Given the description of an element on the screen output the (x, y) to click on. 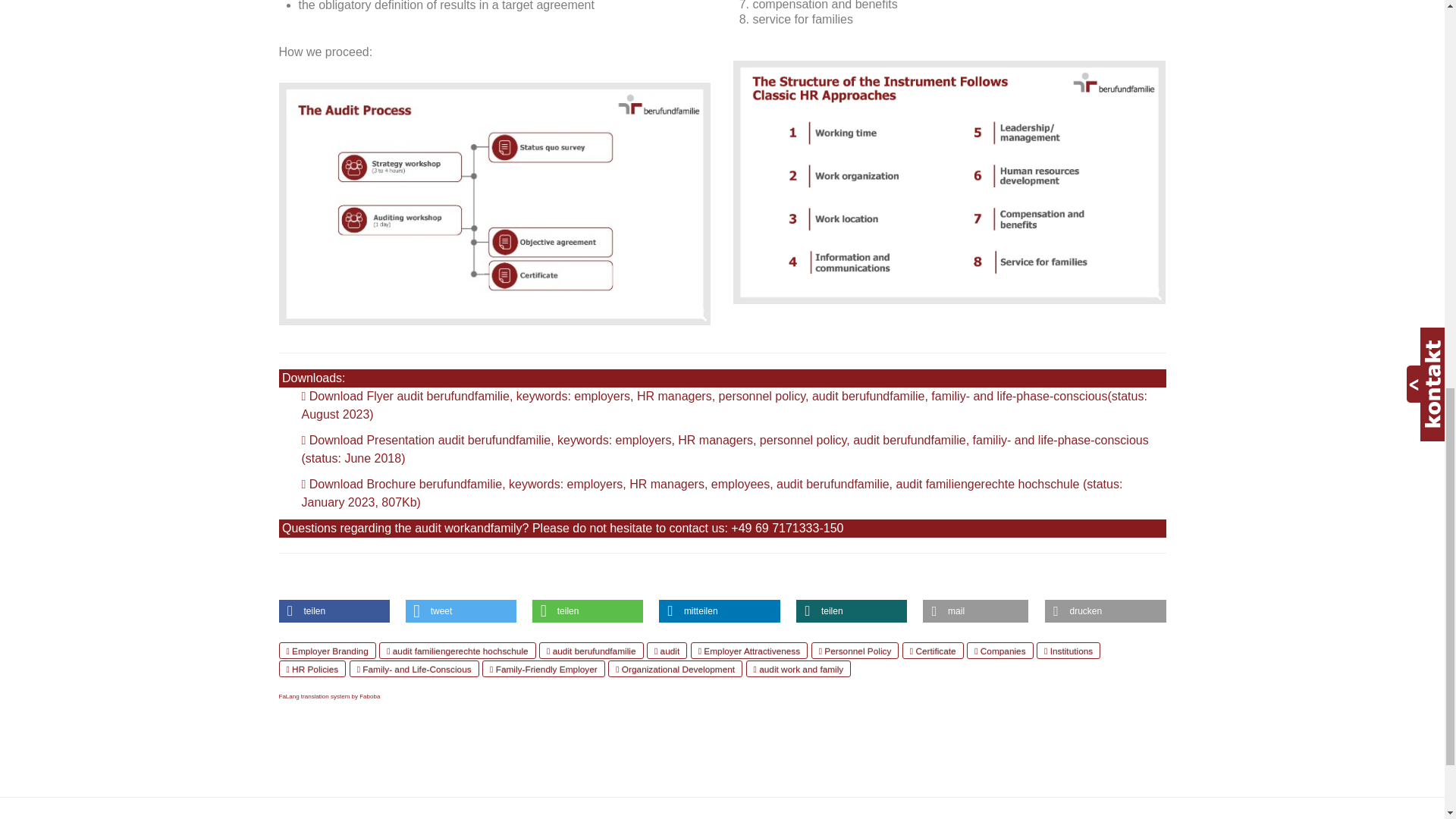
Download Brochure berufundfamilie (711, 492)
Download Presentation audit berufundfamilie (724, 449)
Bei Whatsapp teilen (587, 610)
Bei Twitter teilen (461, 610)
Per E-Mail versenden (975, 610)
Bei Facebook teilen (334, 610)
Schematic procedure in the audit (495, 203)
Bei XING teilen (851, 610)
drucken (1105, 610)
